Given the description of an element on the screen output the (x, y) to click on. 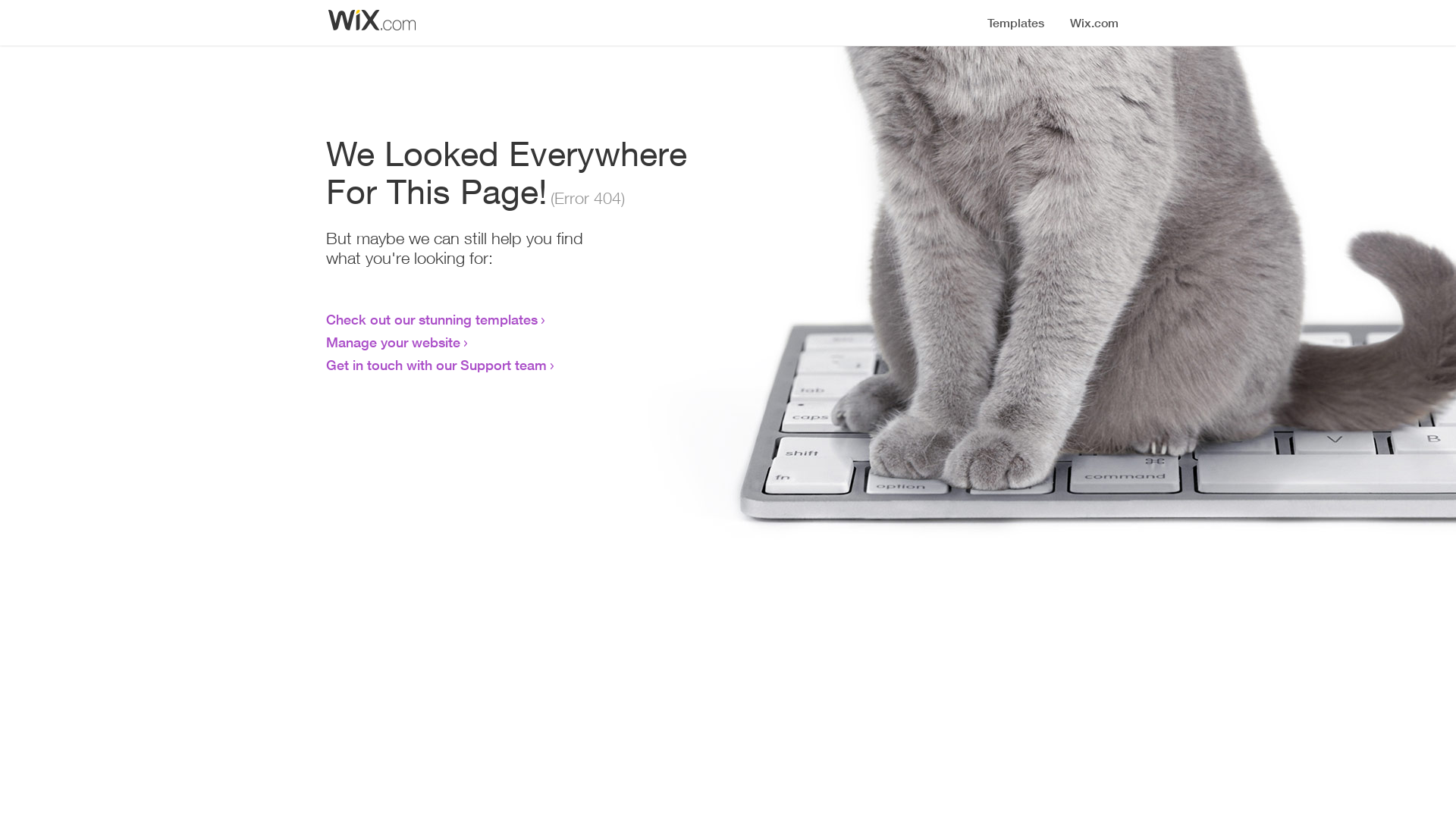
Get in touch with our Support team Element type: text (436, 364)
Check out our stunning templates Element type: text (431, 318)
Manage your website Element type: text (393, 341)
